Given the description of an element on the screen output the (x, y) to click on. 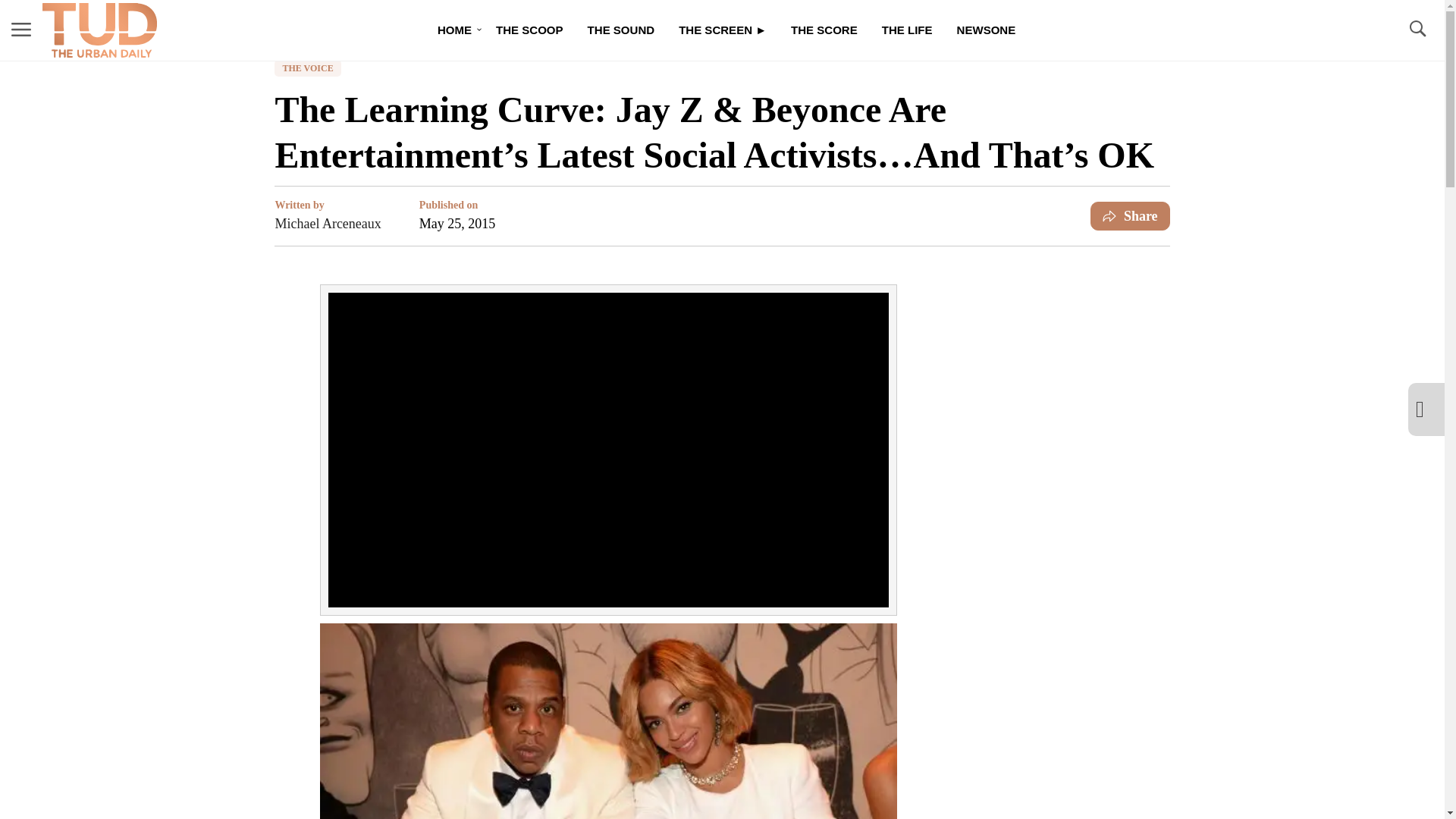
HOME (454, 30)
NEWSONE (985, 30)
THE SCORE (823, 30)
TOGGLE SEARCH (1417, 28)
Michael Arceneaux (327, 223)
THE SCOOP (529, 30)
TOGGLE SEARCH (1417, 30)
Share (1130, 215)
MENU (20, 30)
THE LIFE (906, 30)
MENU (20, 29)
THE VOICE (307, 67)
THE SOUND (620, 30)
